Given the description of an element on the screen output the (x, y) to click on. 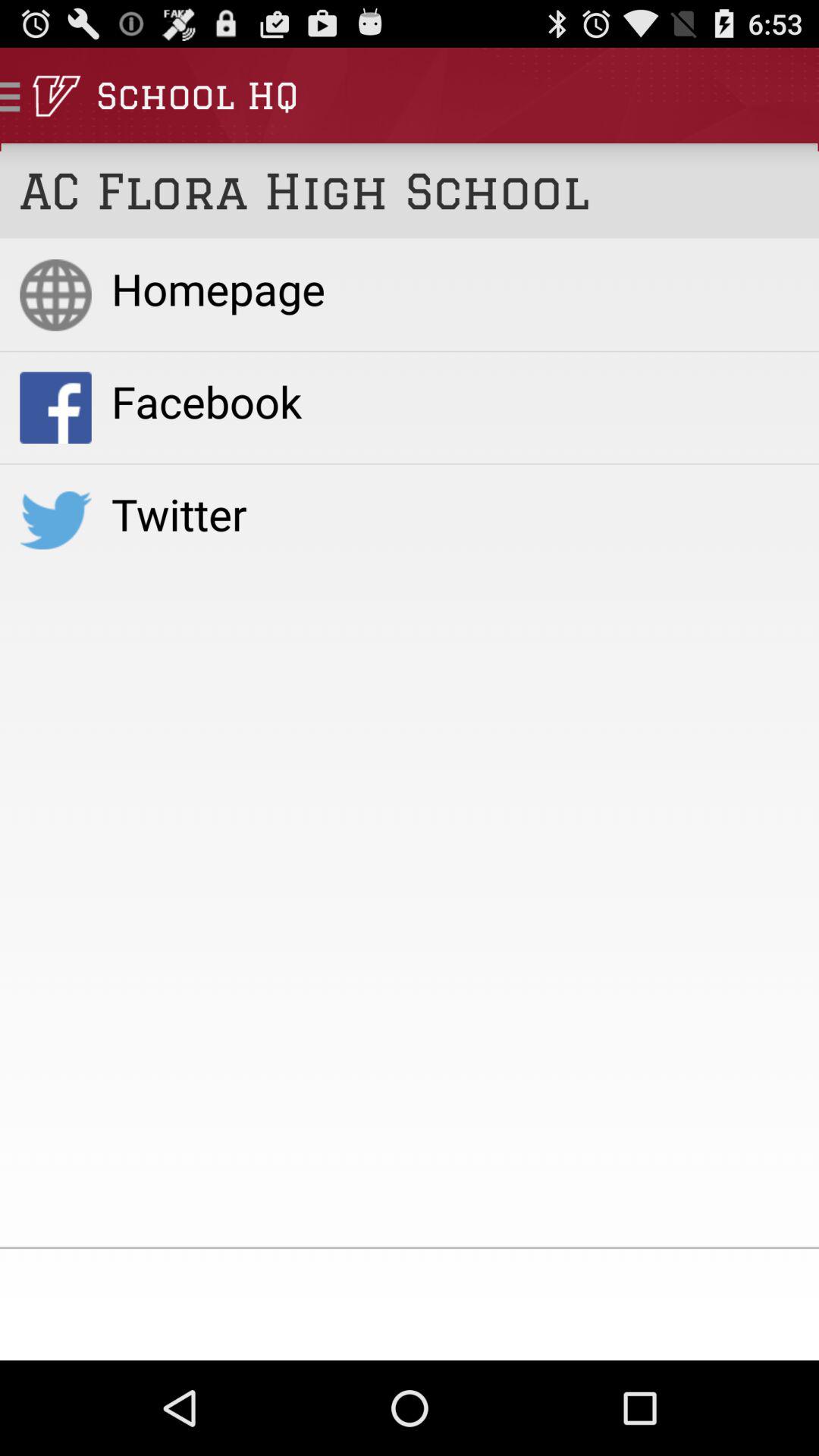
choose facebook (455, 400)
